Given the description of an element on the screen output the (x, y) to click on. 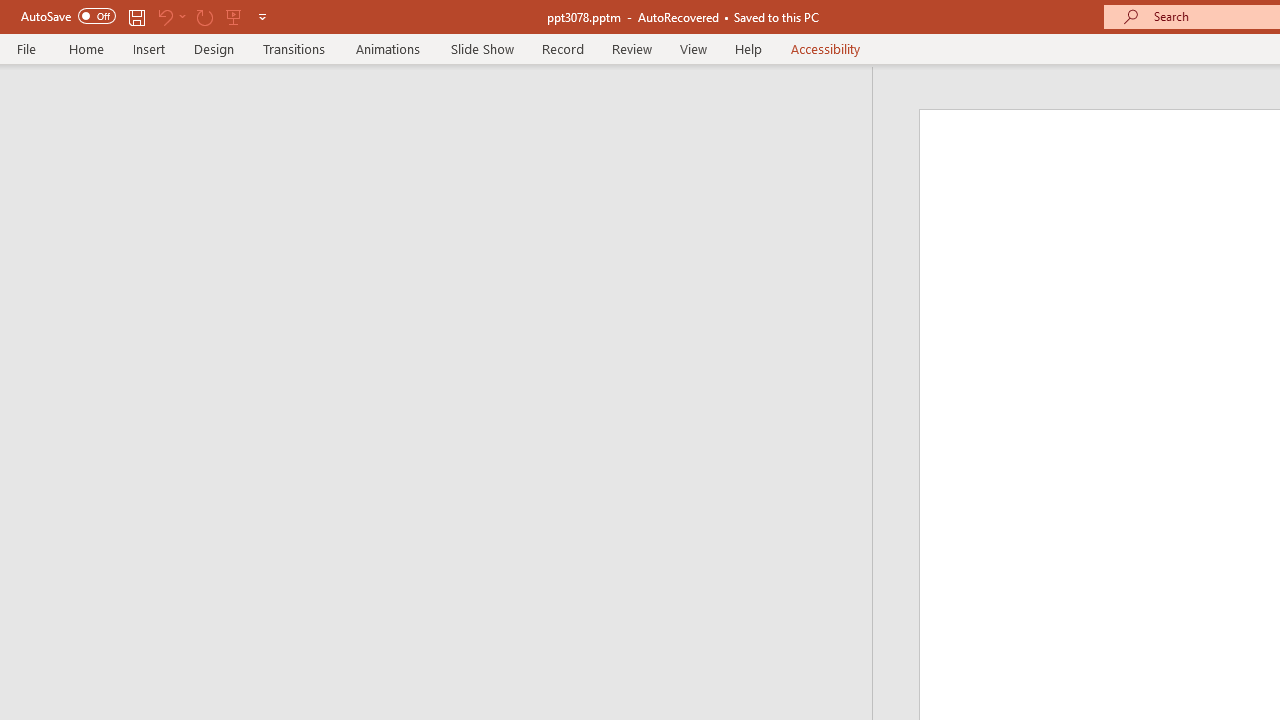
Outline (445, 106)
